Given the description of an element on the screen output the (x, y) to click on. 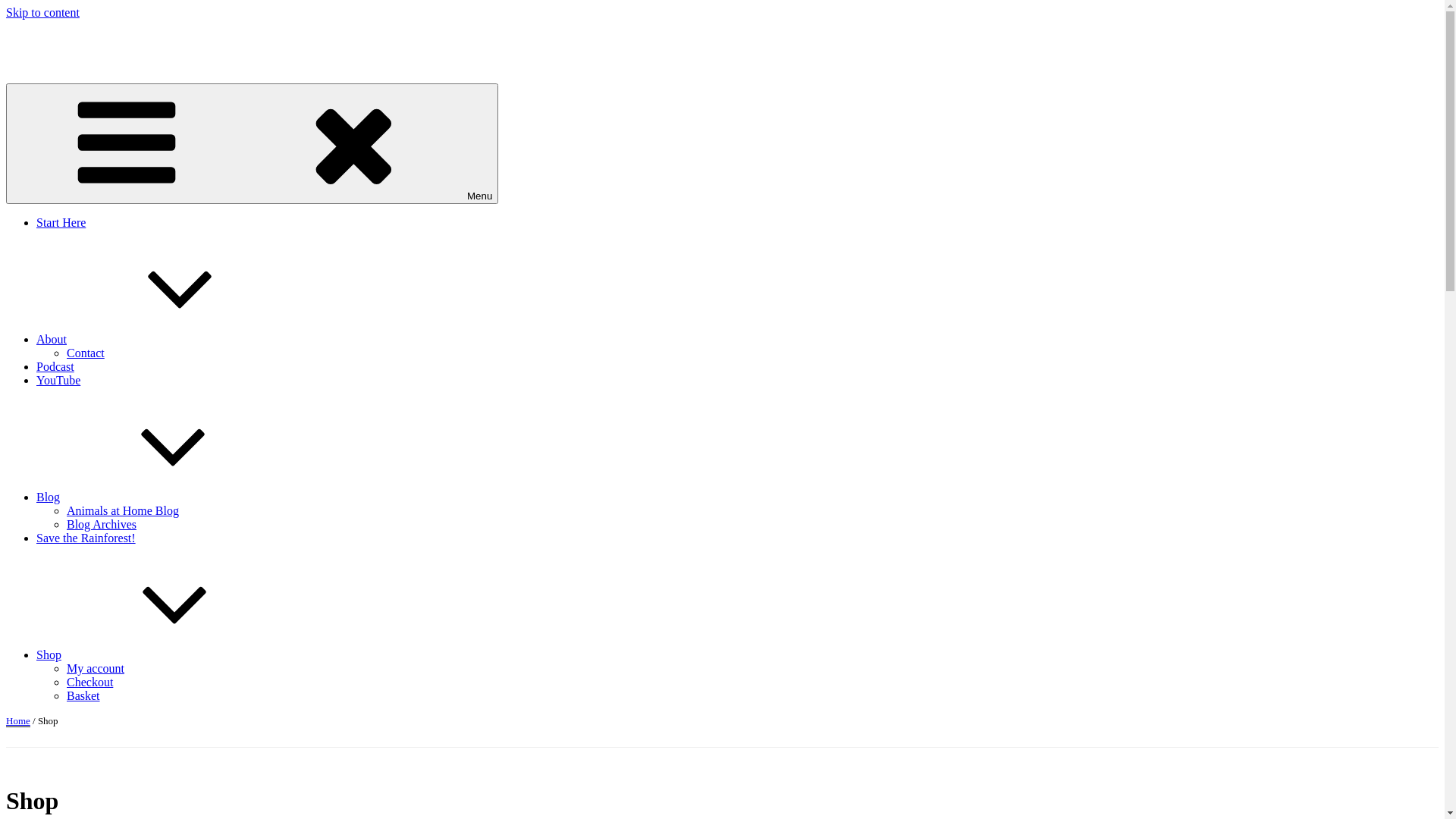
Blog Archives Element type: text (101, 523)
YouTube Element type: text (58, 379)
My account Element type: text (95, 668)
Animals at Home Blog Element type: text (122, 510)
Contact Element type: text (85, 352)
Podcast Element type: text (55, 366)
About Element type: text (165, 338)
Basket Element type: text (83, 695)
Home Element type: text (18, 720)
Shop Element type: text (162, 654)
Menu Element type: text (252, 143)
Start Here Element type: text (60, 222)
Blog Element type: text (161, 496)
Save the Rainforest! Element type: text (85, 537)
Skip to content Element type: text (42, 12)
Animals at Home Element type: text (48, 37)
Checkout Element type: text (89, 681)
